Given the description of an element on the screen output the (x, y) to click on. 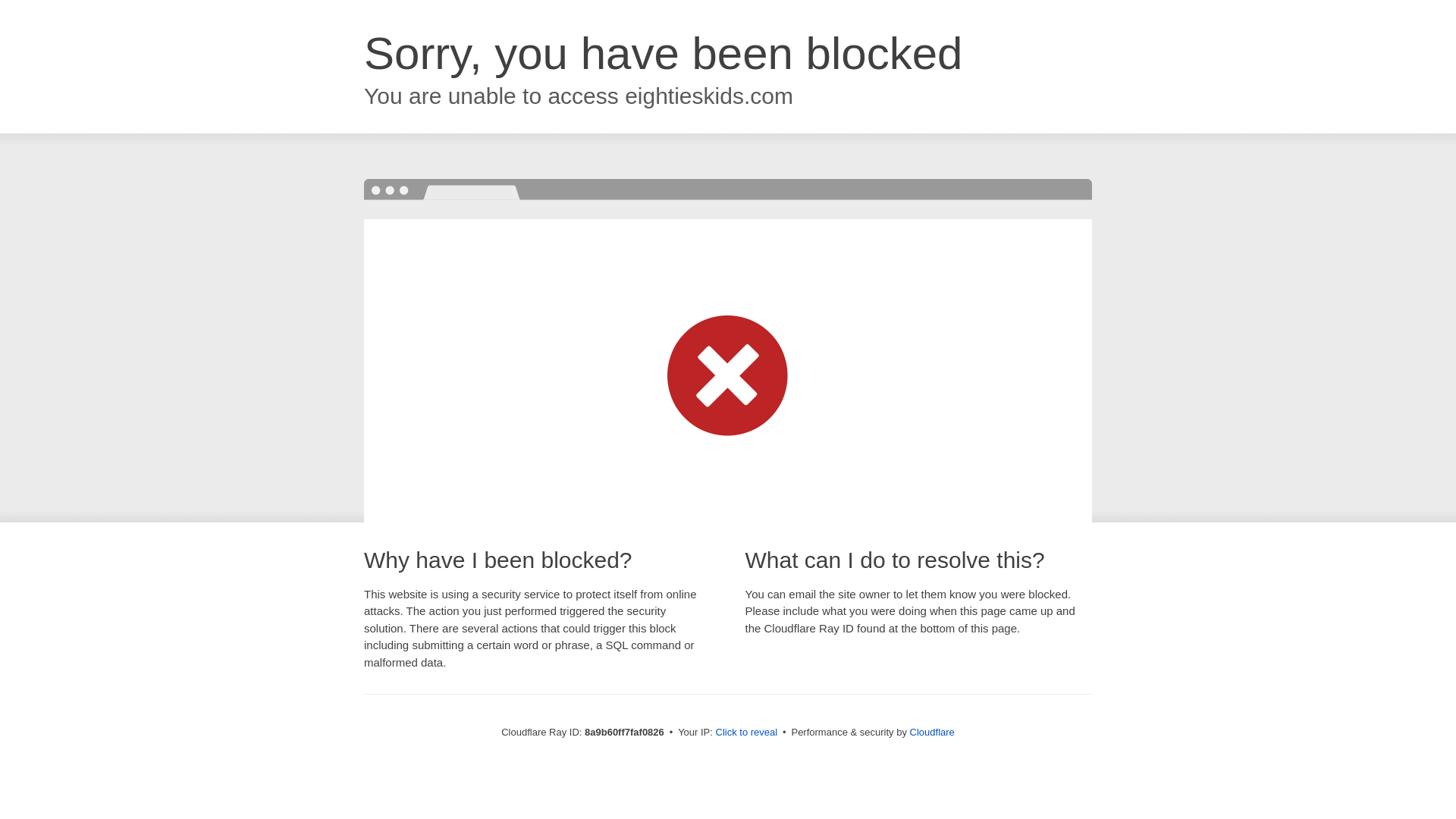
Cloudflare (932, 731)
Click to reveal (746, 732)
